Given the description of an element on the screen output the (x, y) to click on. 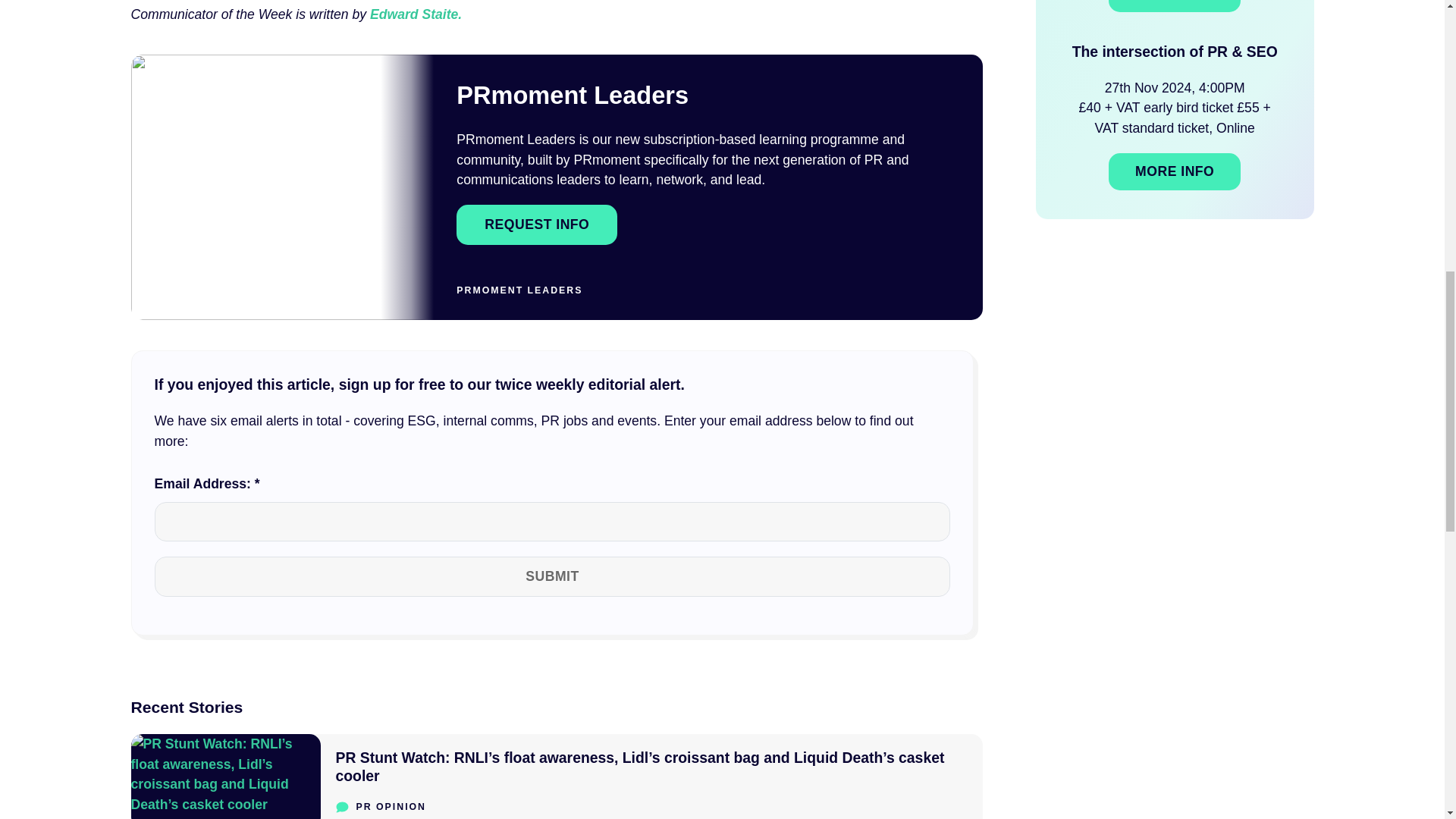
REQUEST INFO (537, 224)
Edward Staite. (415, 14)
SUBMIT (552, 576)
SUBMIT (552, 576)
